Given the description of an element on the screen output the (x, y) to click on. 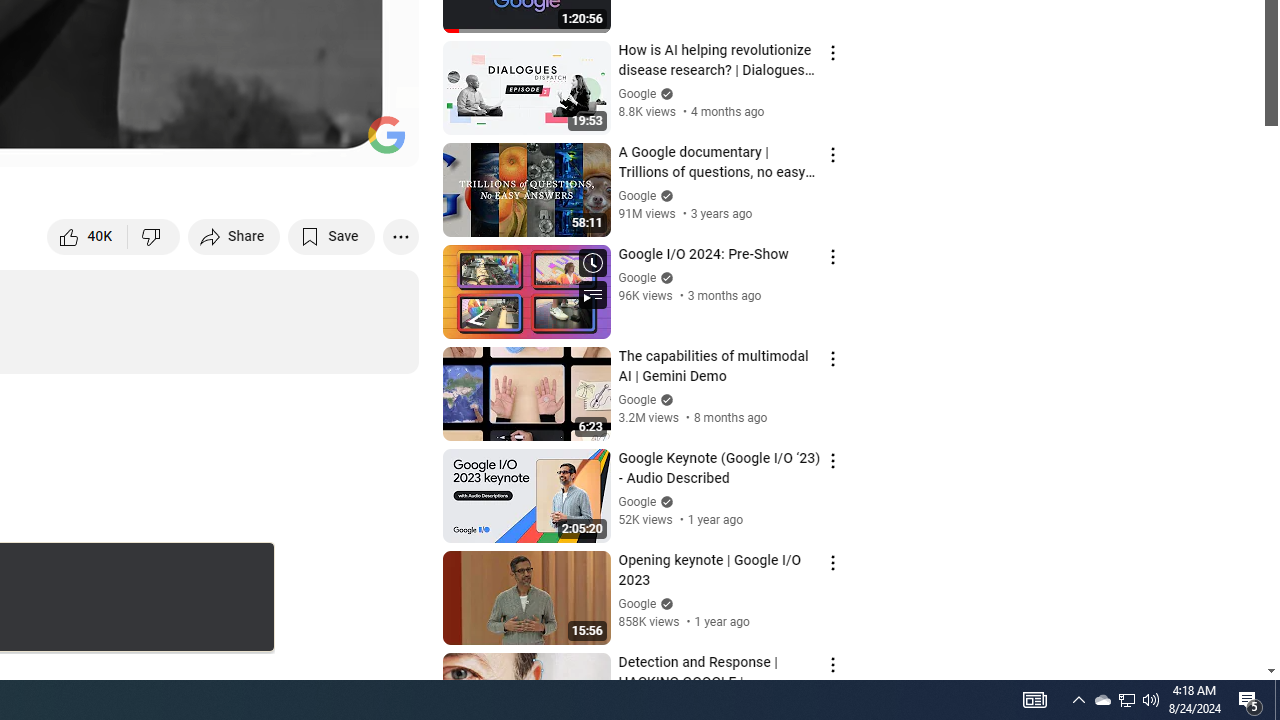
Full screen (f) (382, 142)
Channel watermark (386, 134)
